Given the description of an element on the screen output the (x, y) to click on. 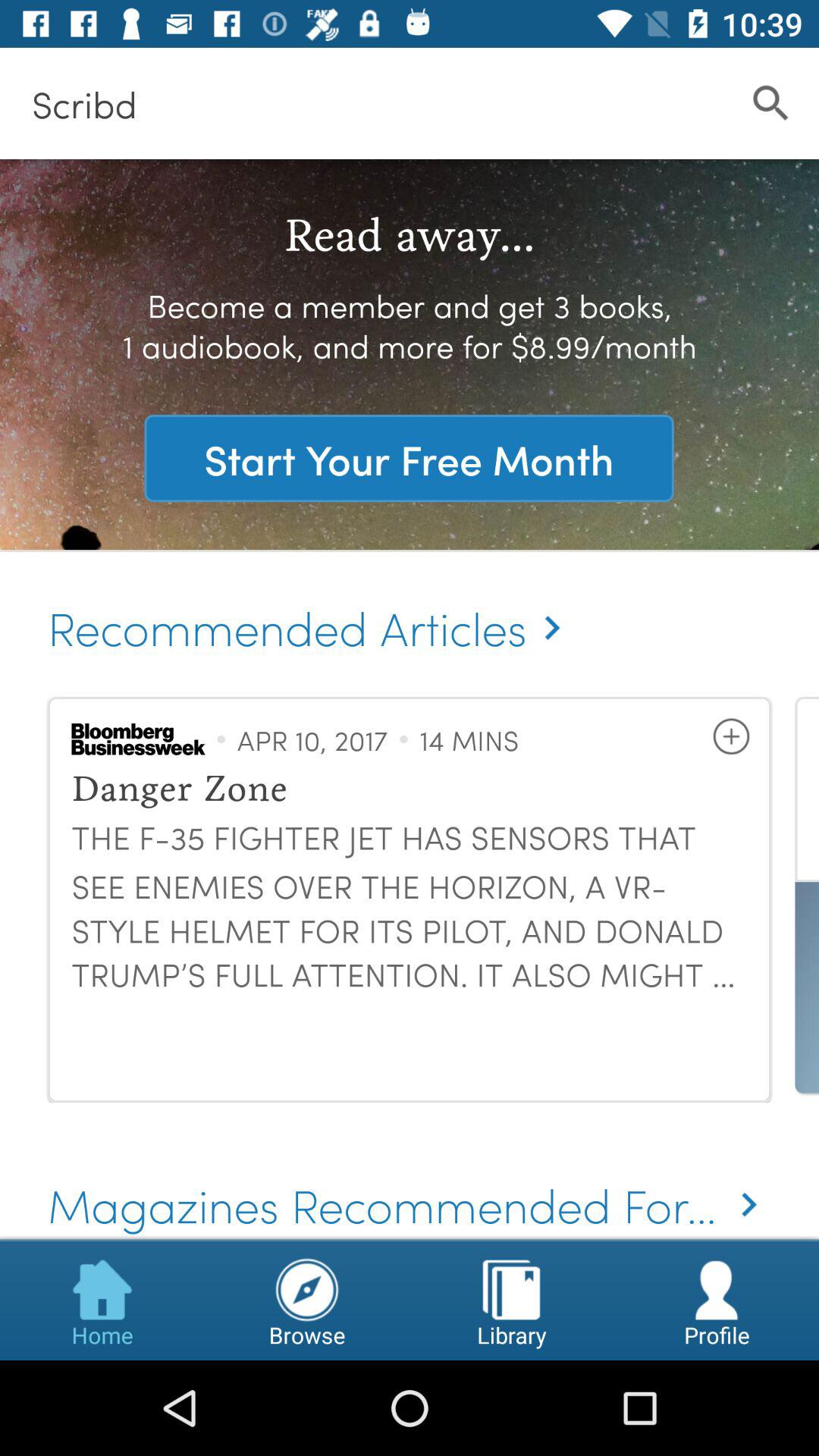
turn off item below the magazines recommended for (102, 1300)
